Given the description of an element on the screen output the (x, y) to click on. 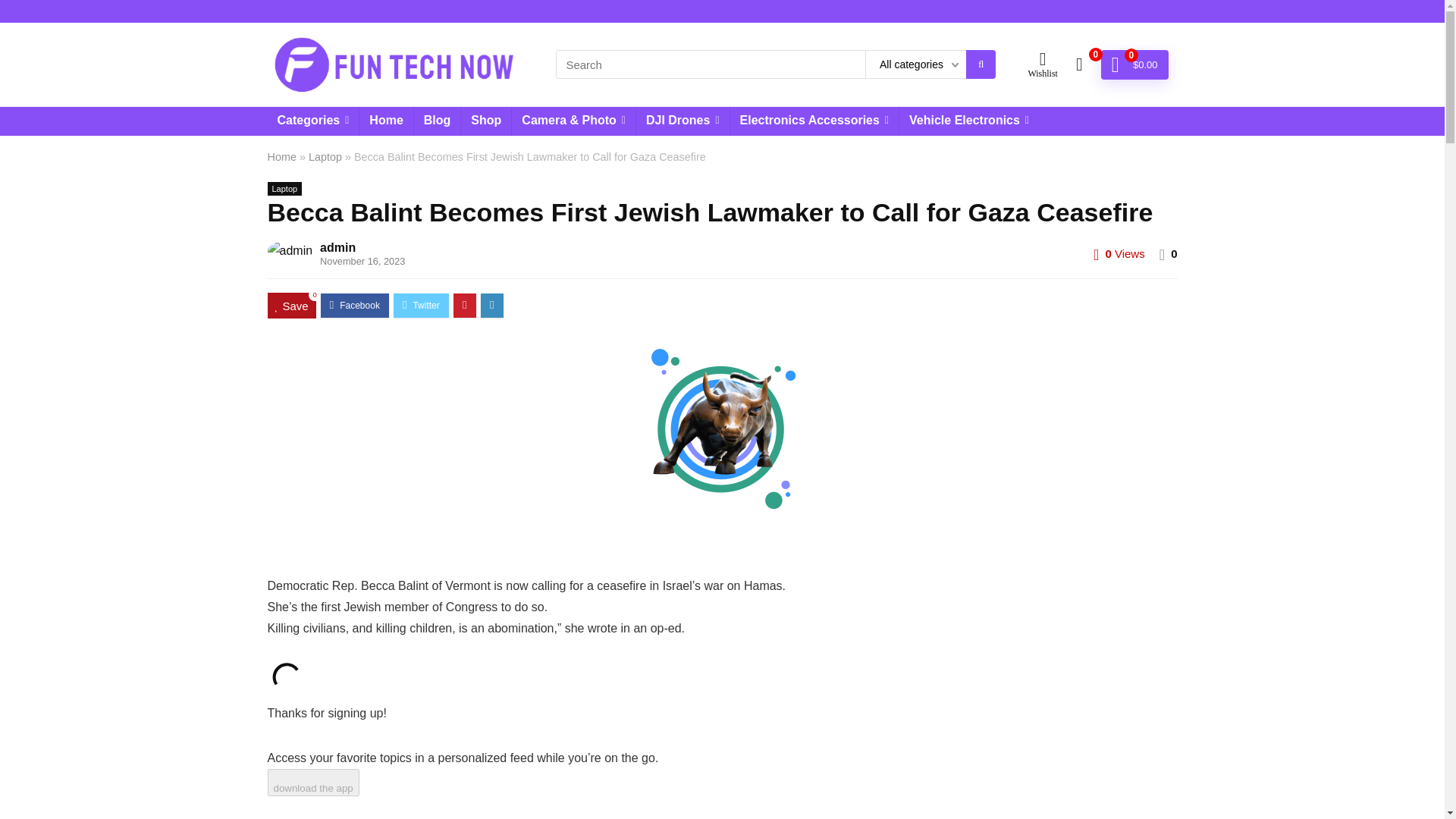
Categories (312, 121)
View all posts in Laptop (283, 188)
Home (385, 121)
Loading Something is loading. (285, 677)
Blog (437, 121)
